Given the description of an element on the screen output the (x, y) to click on. 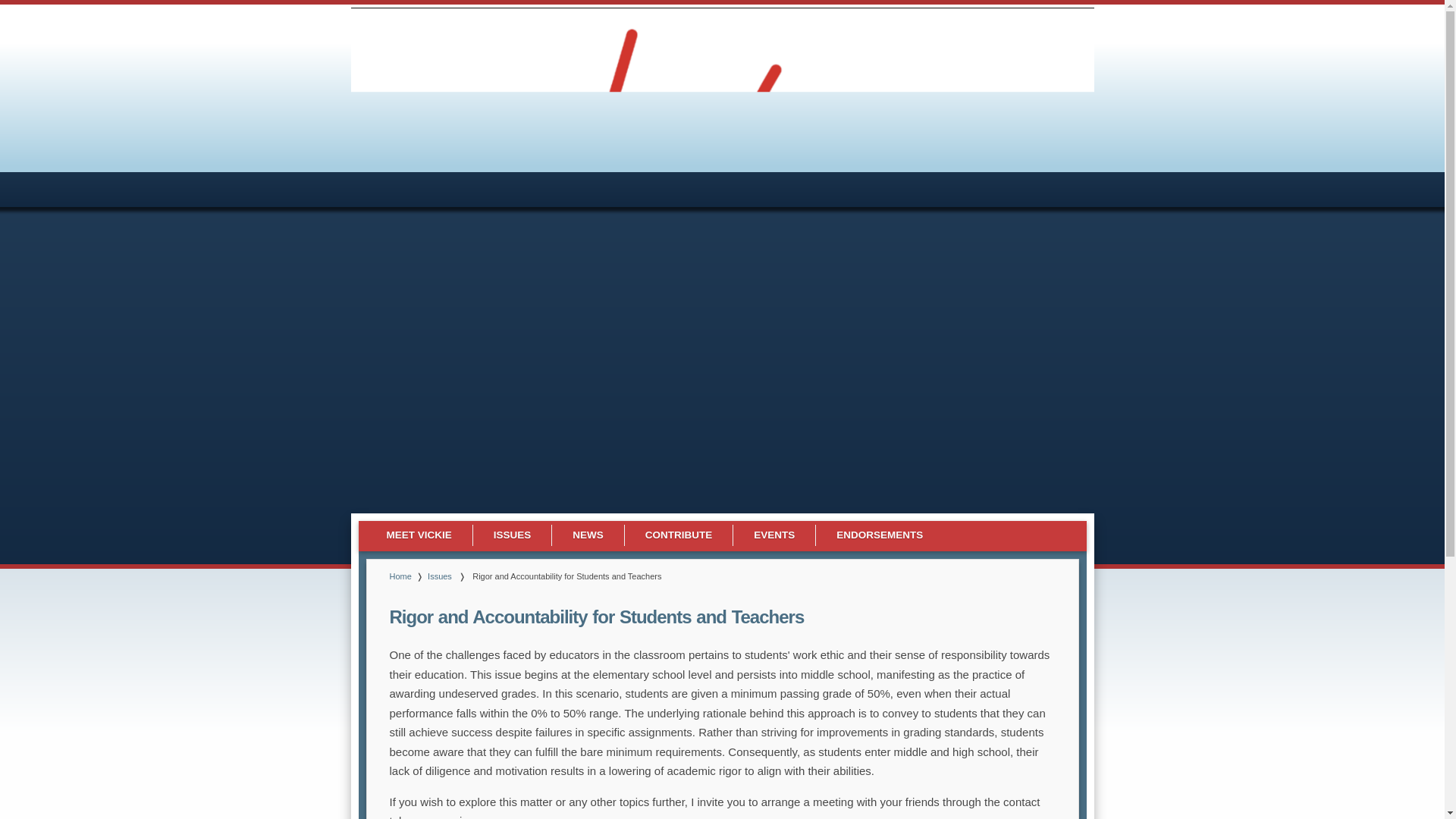
CONTRIBUTE (678, 535)
Issues (439, 575)
NEWS (587, 535)
ENDORSEMENTS (879, 535)
ISSUES (513, 535)
MEET VICKIE (418, 535)
EVENTS (774, 535)
Home (401, 575)
